Given the description of an element on the screen output the (x, y) to click on. 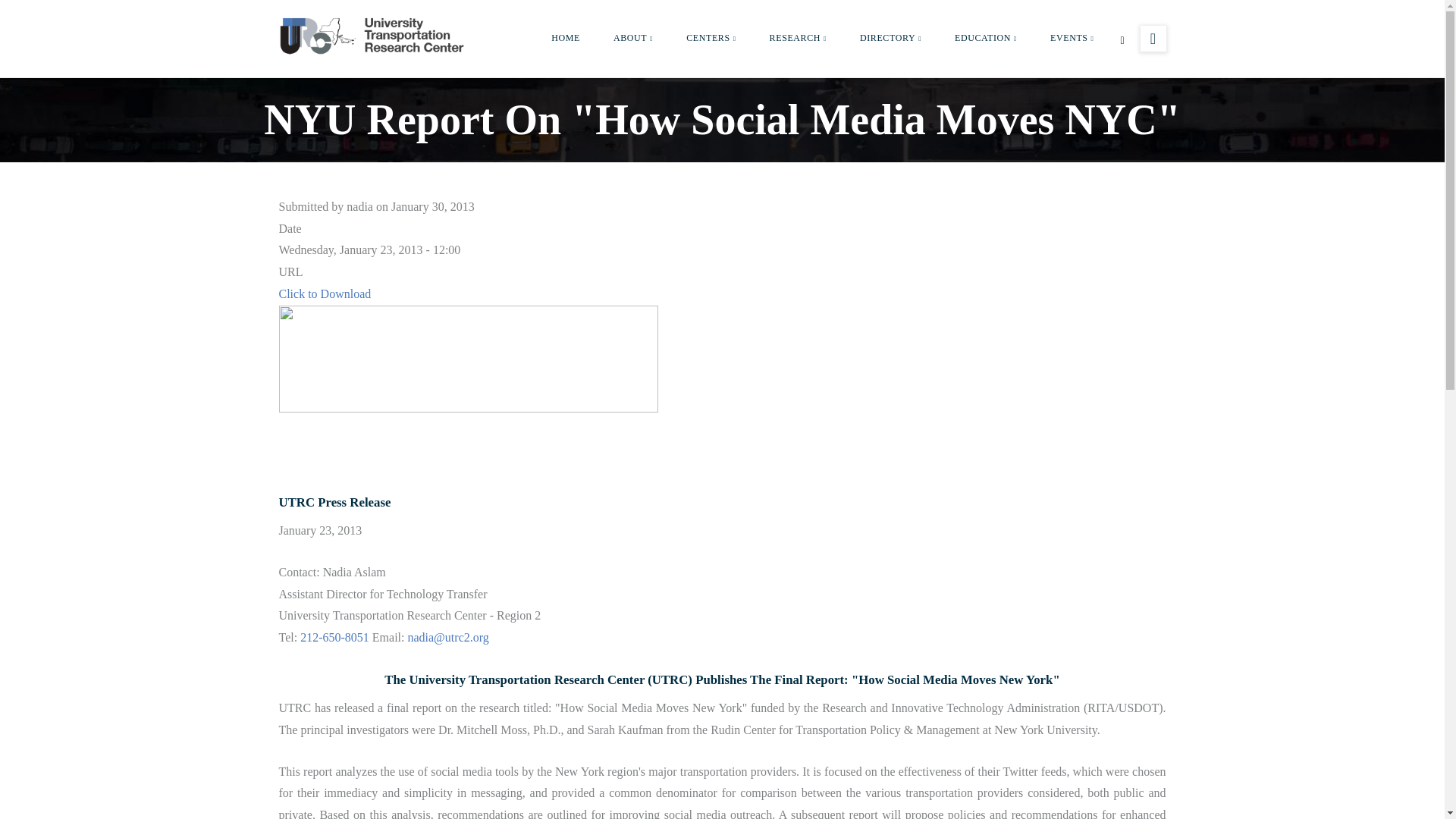
RESEARCH (797, 38)
Home (373, 35)
CENTERS (711, 38)
EDUCATION (985, 38)
DIRECTORY (890, 38)
ABOUT (633, 38)
